Given the description of an element on the screen output the (x, y) to click on. 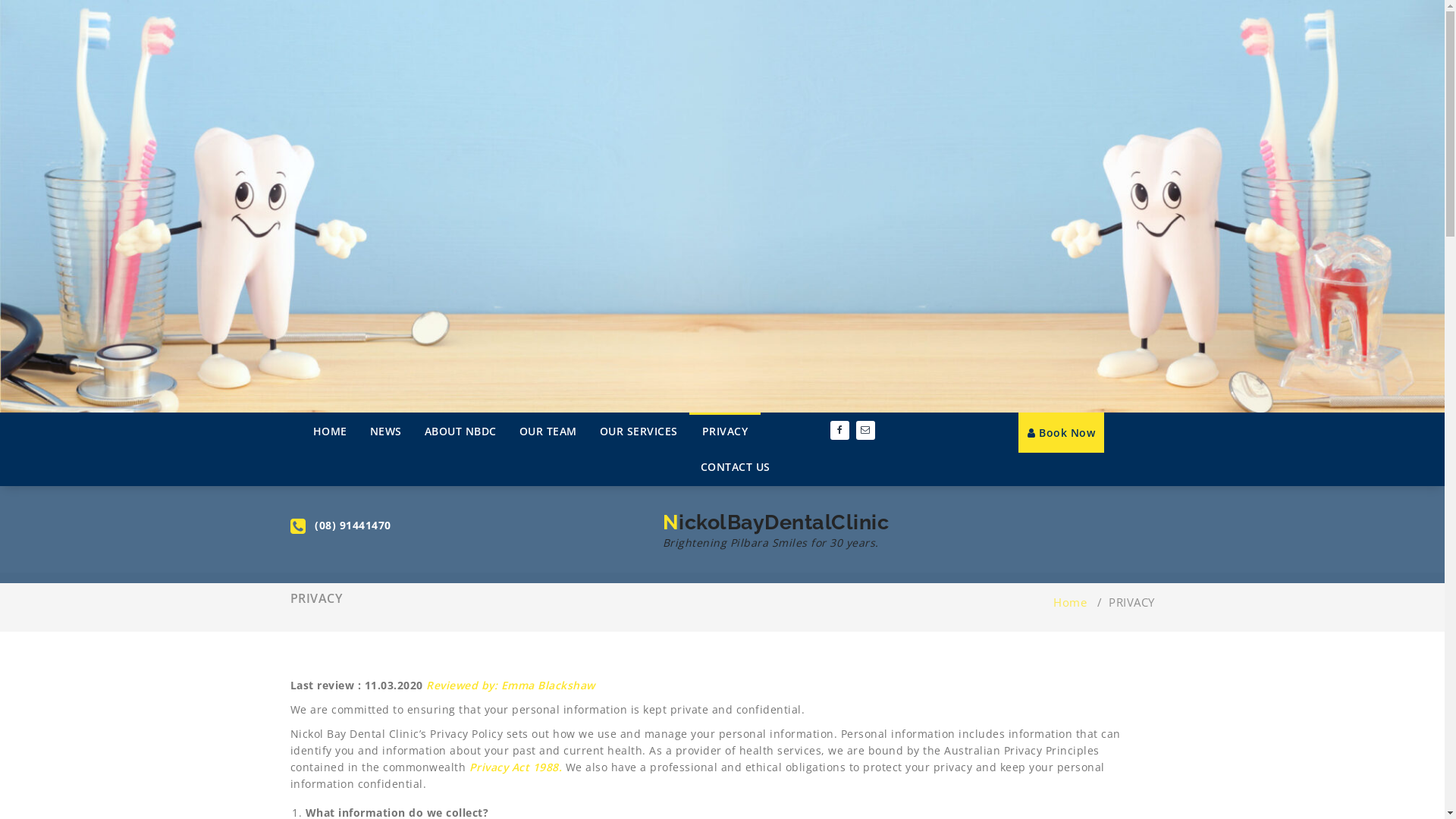
Skip to content Element type: text (0, 0)
Home Element type: text (1069, 601)
Book Now Element type: text (1061, 432)
CONTACT US Element type: text (734, 467)
ABOUT NBDC Element type: text (459, 431)
NEWS Element type: text (384, 431)
PRIVACY Element type: text (724, 430)
OUR SERVICES Element type: text (638, 431)
(08) 91441470 Element type: text (352, 524)
OUR TEAM Element type: text (548, 431)
HOME Element type: text (329, 431)
